Given the description of an element on the screen output the (x, y) to click on. 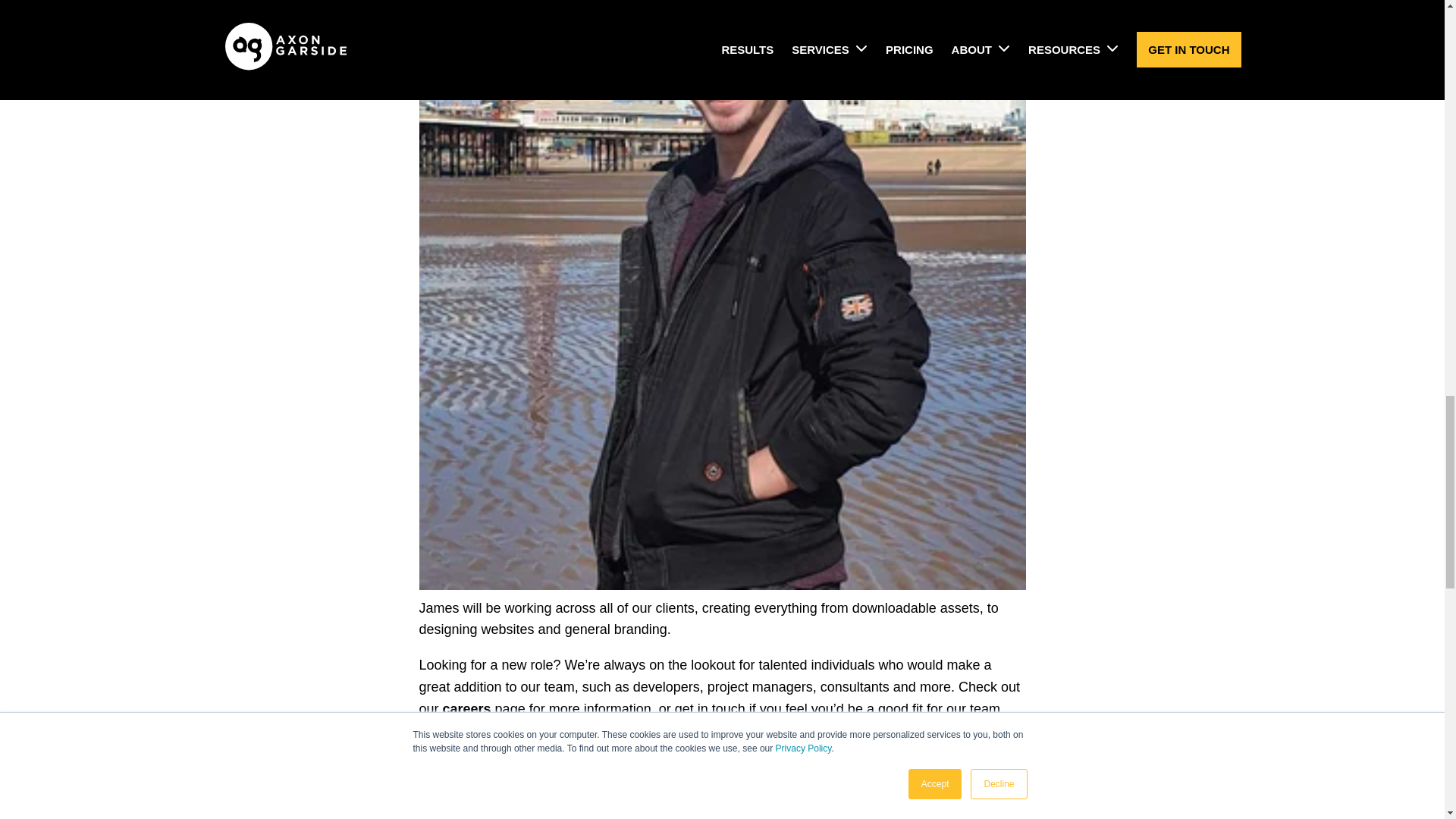
careers (467, 708)
